Given the description of an element on the screen output the (x, y) to click on. 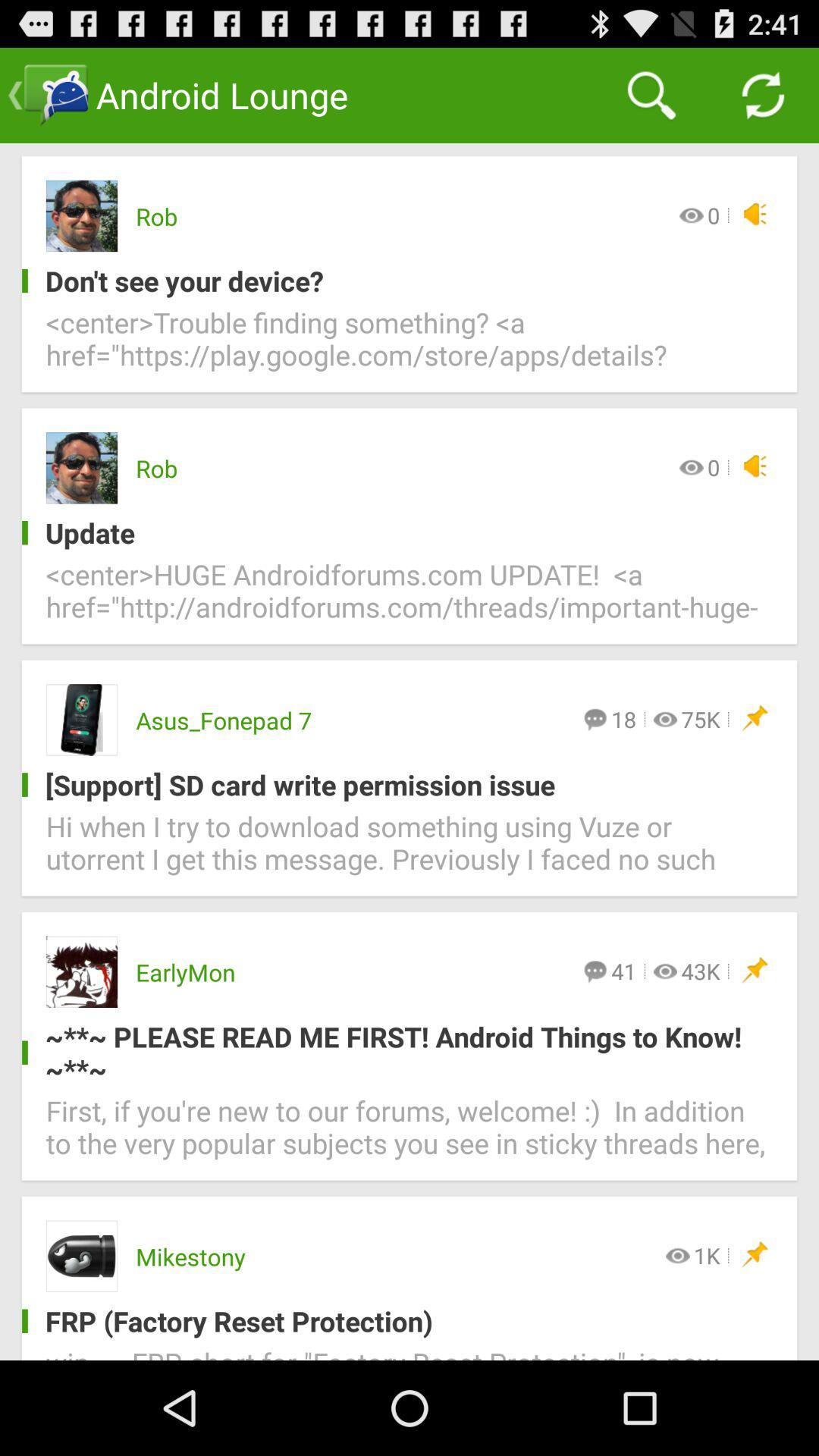
launch the item above the center trouble finding item (397, 280)
